Given the description of an element on the screen output the (x, y) to click on. 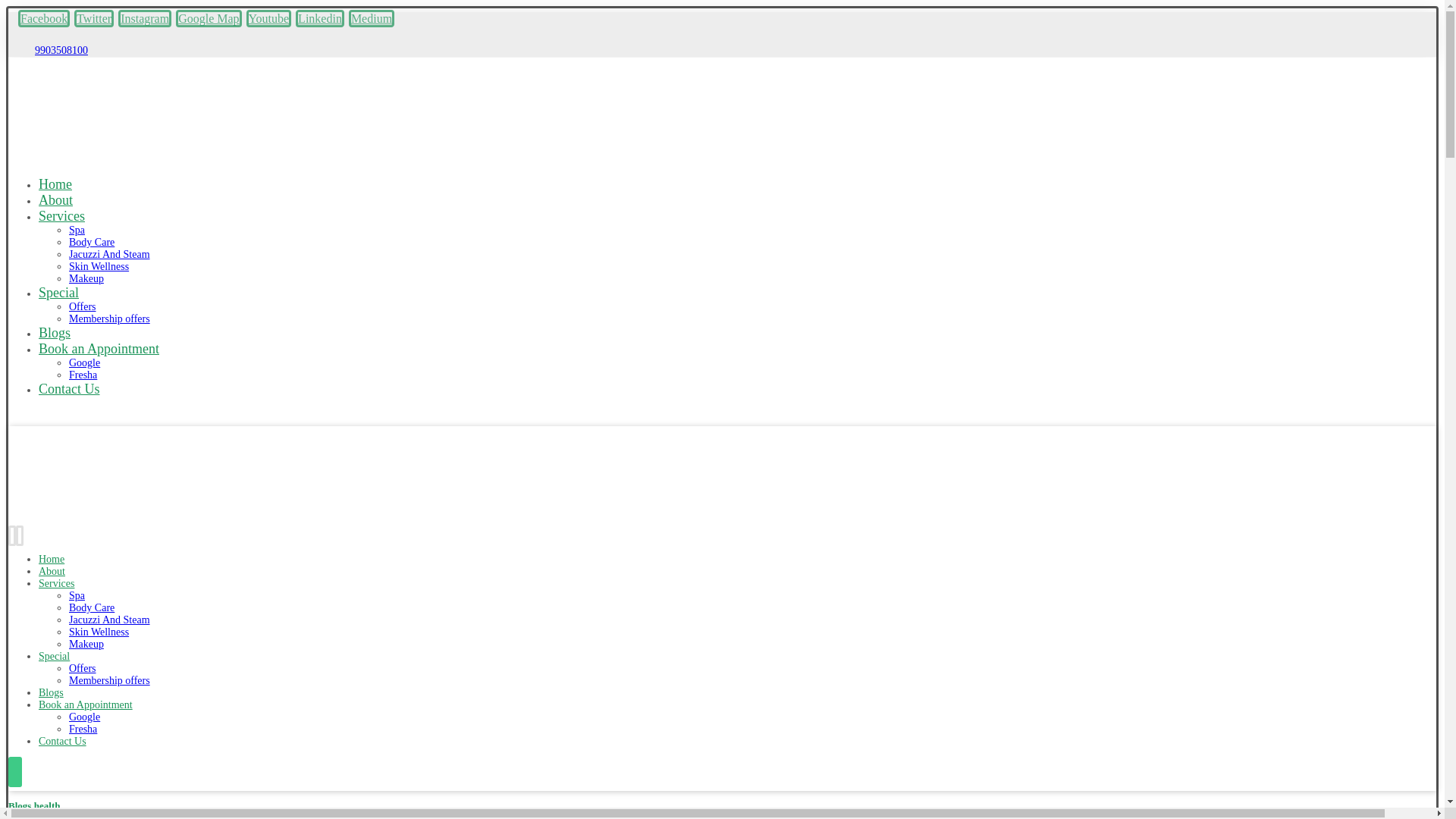
Google Map (208, 18)
Linkedin (319, 18)
Blogs (54, 332)
Medium (371, 18)
Youtube (269, 18)
Spa in kolkata I Best spa in saltlake (40, 504)
Book an Appointment (85, 704)
Special (58, 292)
About (52, 571)
Book an Appointment (98, 348)
